Given the description of an element on the screen output the (x, y) to click on. 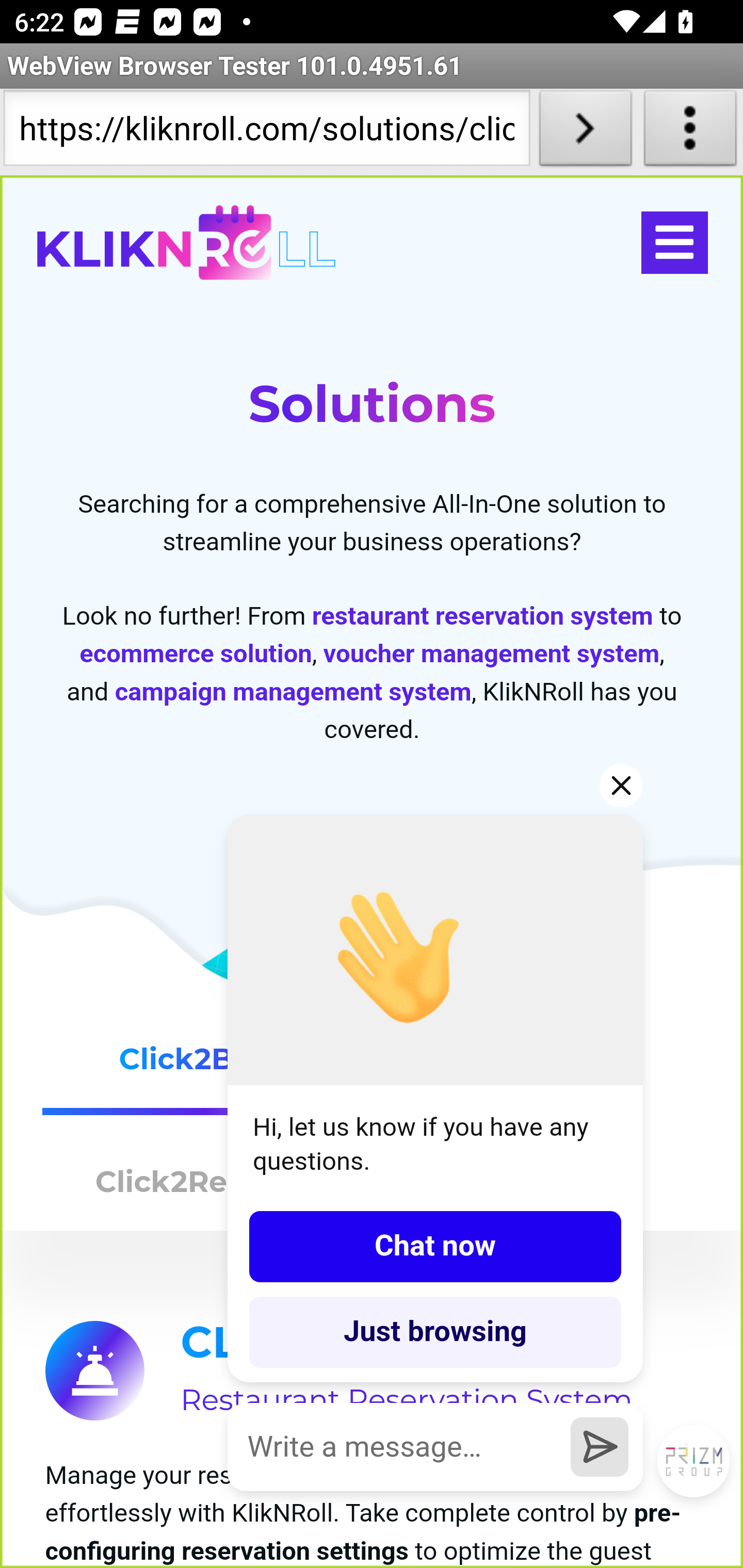
Load URL (585, 132)
About WebView (690, 132)
kliknroll (185, 242)
 (673, 242)
Hide greeting (621, 785)
Chat now (435, 1246)
Just browsing (435, 1331)
Send a message (600, 1446)
Open LiveChat chat widget (694, 1462)
